Given the description of an element on the screen output the (x, y) to click on. 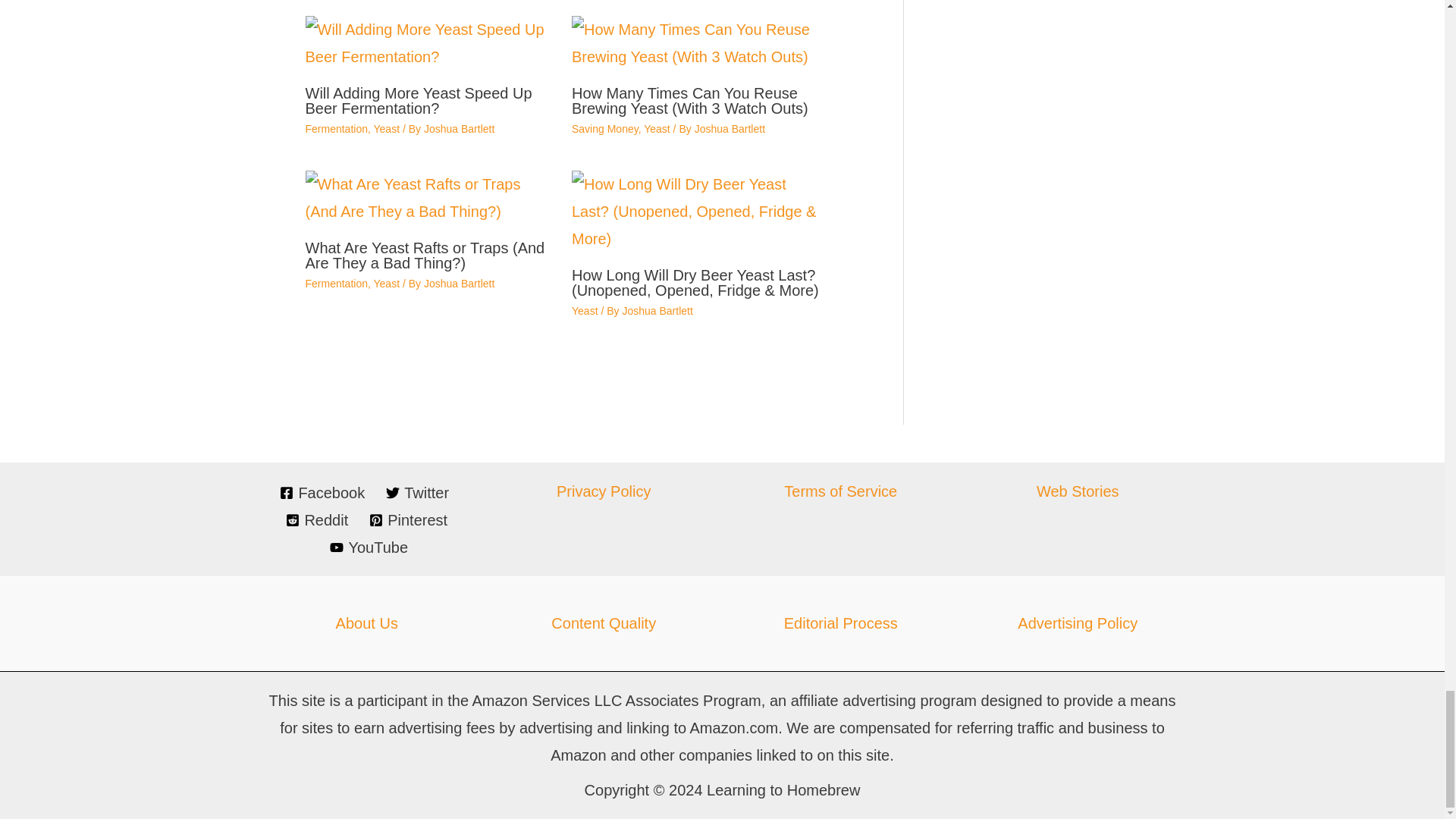
View all posts by Joshua Bartlett (459, 128)
View all posts by Joshua Bartlett (657, 310)
View all posts by Joshua Bartlett (729, 128)
View all posts by Joshua Bartlett (459, 283)
